Given the description of an element on the screen output the (x, y) to click on. 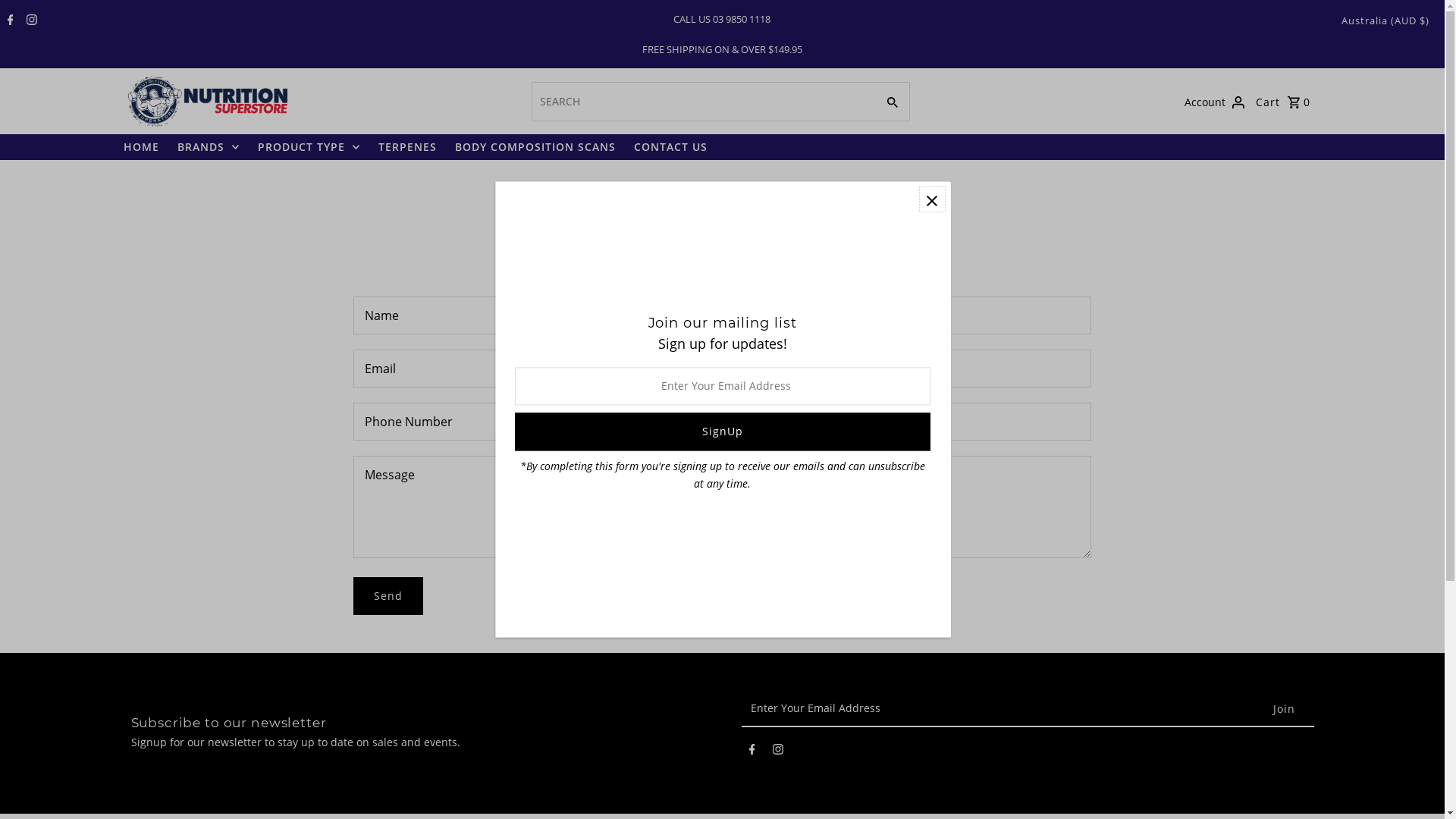
BRANDS Element type: text (208, 147)
Send Element type: text (388, 596)
BODY COMPOSITION SCANS Element type: text (535, 147)
SignUp Element type: text (721, 432)
Join Element type: text (1284, 708)
CONTACT US Element type: text (670, 147)
PRODUCT TYPE Element type: text (308, 147)
TERPENES Element type: text (406, 147)
Australia (AUD $) Element type: text (1385, 20)
Home Element type: text (680, 186)
HOME Element type: text (140, 147)
